Given the description of an element on the screen output the (x, y) to click on. 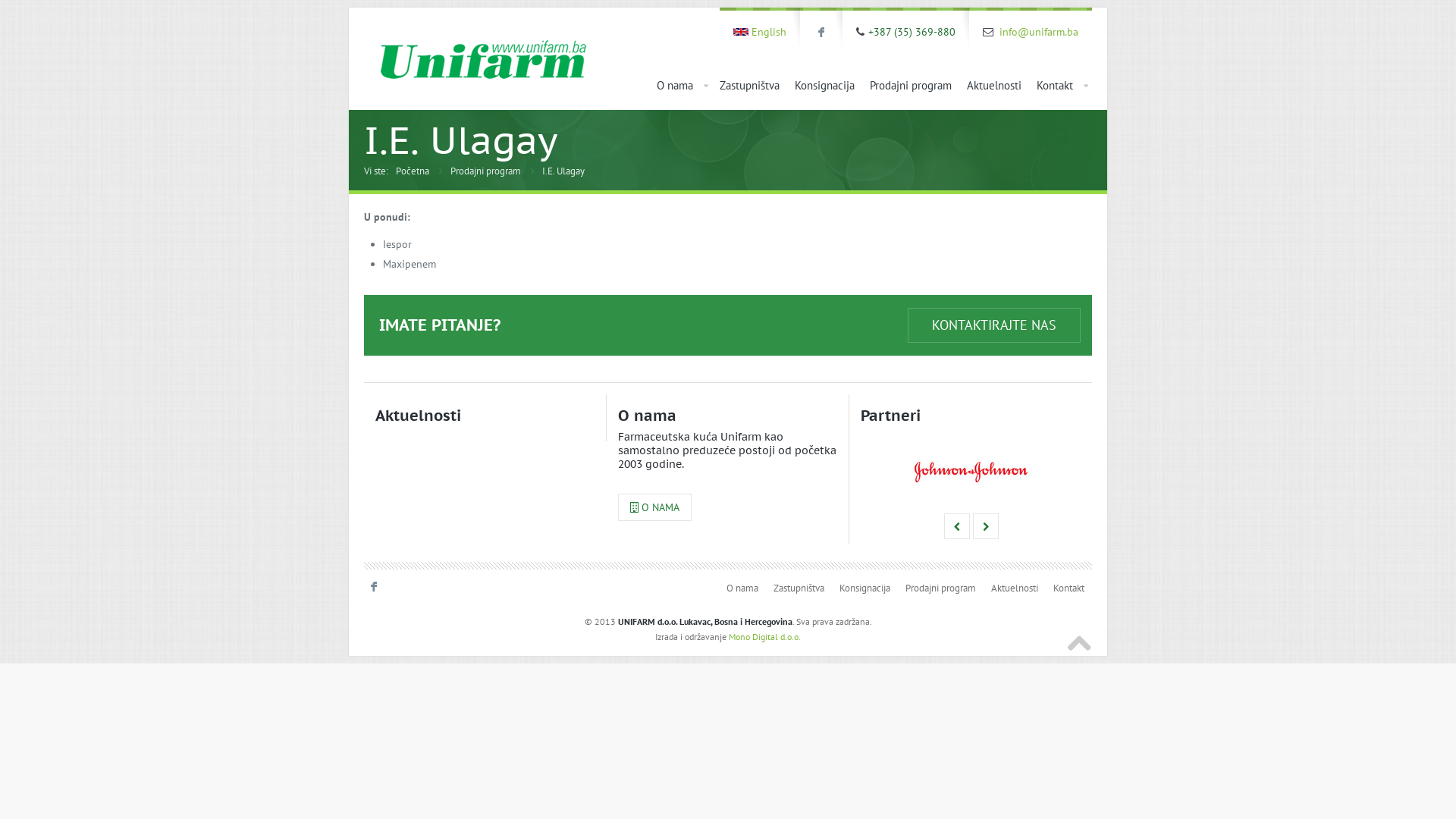
F Element type: text (821, 32)
KONTAKTIRAJTE NAS Element type: text (993, 324)
Aktuelnosti Element type: text (994, 85)
Mono Digital d.o.o. Element type: text (764, 636)
Aktuelnosti Element type: text (1014, 588)
Kontakt Element type: text (1068, 588)
Konsignacija Element type: text (824, 85)
Kontakt Element type: text (1060, 85)
O nama Element type: text (680, 85)
I.E. Ulagay Element type: text (563, 170)
English Element type: text (768, 31)
Konsignacija Element type: text (864, 588)
Prodajni program Element type: text (485, 170)
F Element type: text (373, 586)
O nama Element type: text (741, 588)
info@unifarm.ba Element type: text (1038, 31)
Prodajni program Element type: text (940, 588)
O NAMA Element type: text (654, 506)
Prodajni program Element type: text (910, 85)
